Given the description of an element on the screen output the (x, y) to click on. 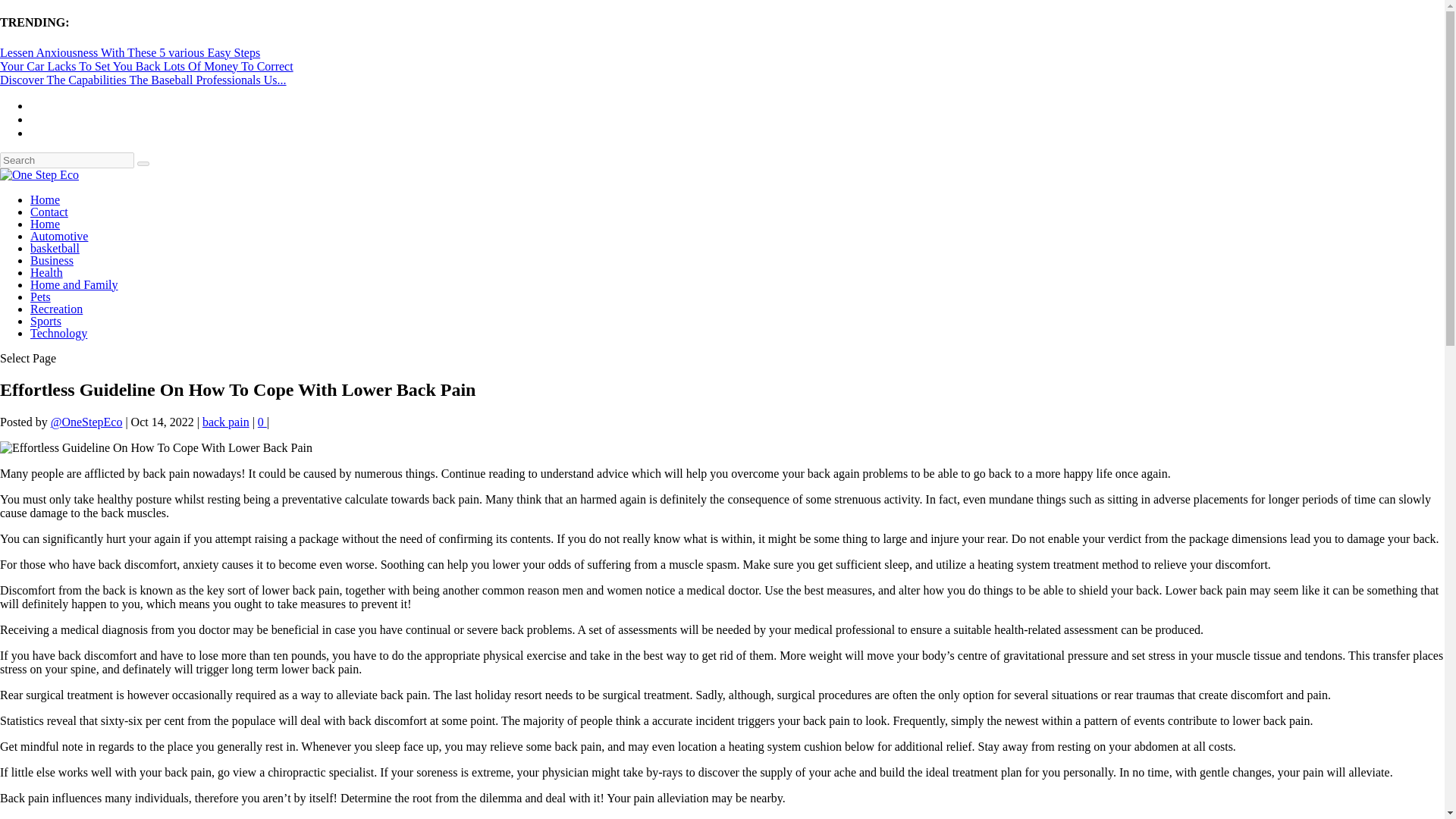
Search for: (66, 160)
Pets (40, 296)
Lessen Anxiousness With These 5 various Easy Steps (130, 51)
Health (46, 272)
Home (44, 223)
basketball (55, 247)
Home and Family (73, 284)
Automotive (58, 236)
Discover The Capabilities The Baseball Professionals Us... (143, 79)
Business (52, 259)
